Given the description of an element on the screen output the (x, y) to click on. 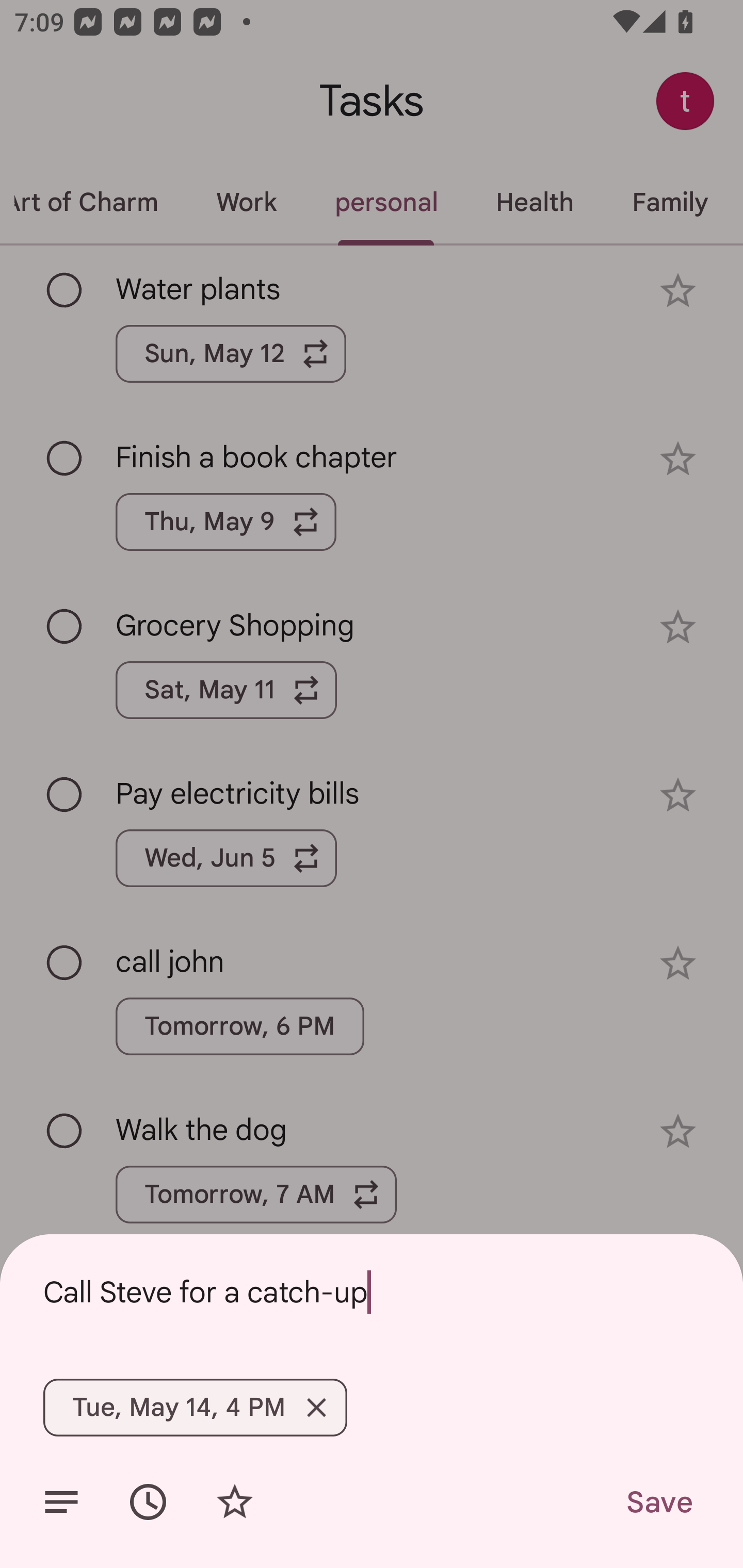
Call Steve for a catch-up (371, 1291)
Tue, May 14, 4 PM Remove Tue, May 14, 4 PM (194, 1407)
Save (659, 1501)
Add details (60, 1501)
Set date/time (147, 1501)
Add star (234, 1501)
